Given the description of an element on the screen output the (x, y) to click on. 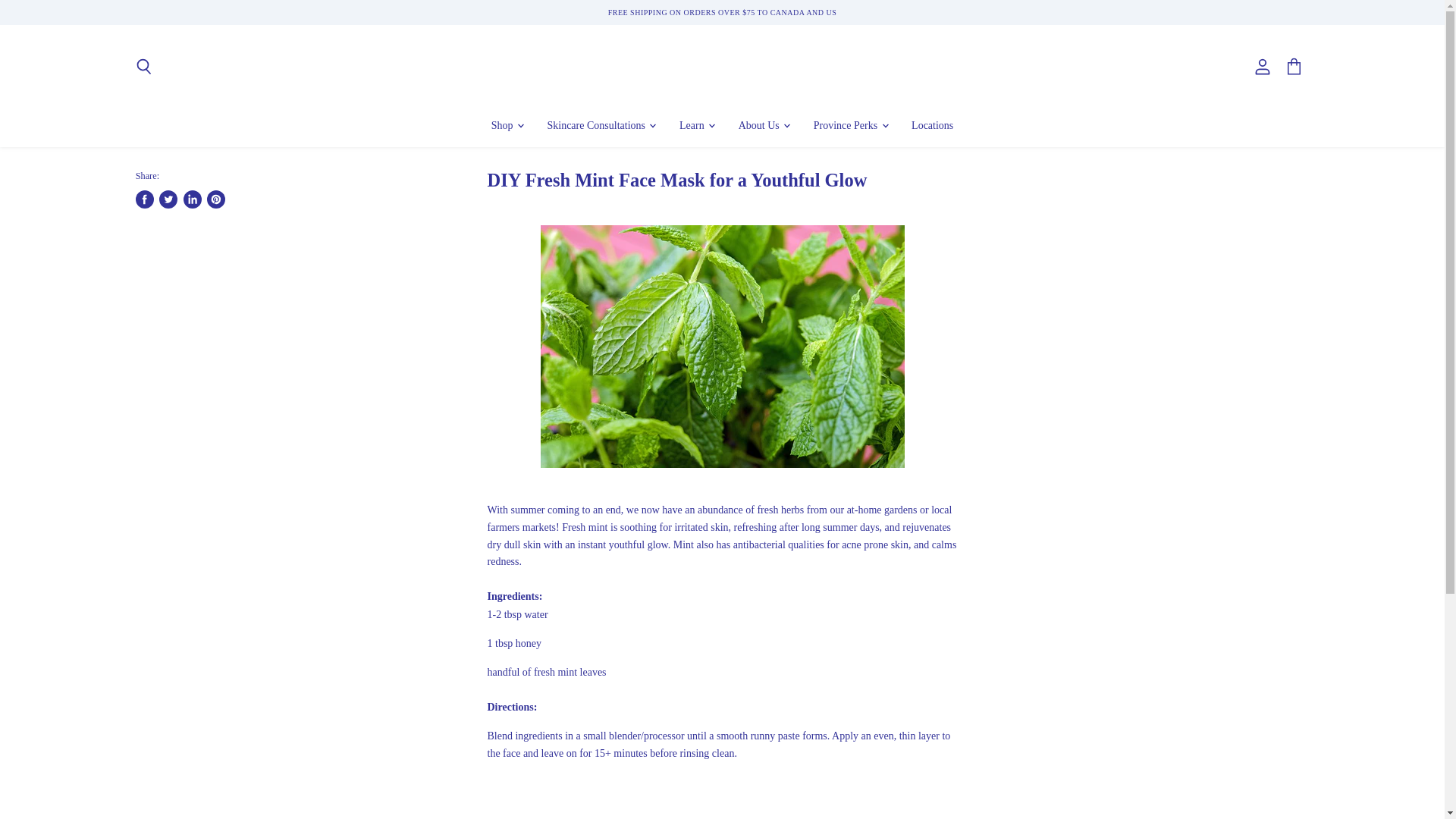
Search (143, 67)
View account (1262, 67)
Shop (506, 124)
